Given the description of an element on the screen output the (x, y) to click on. 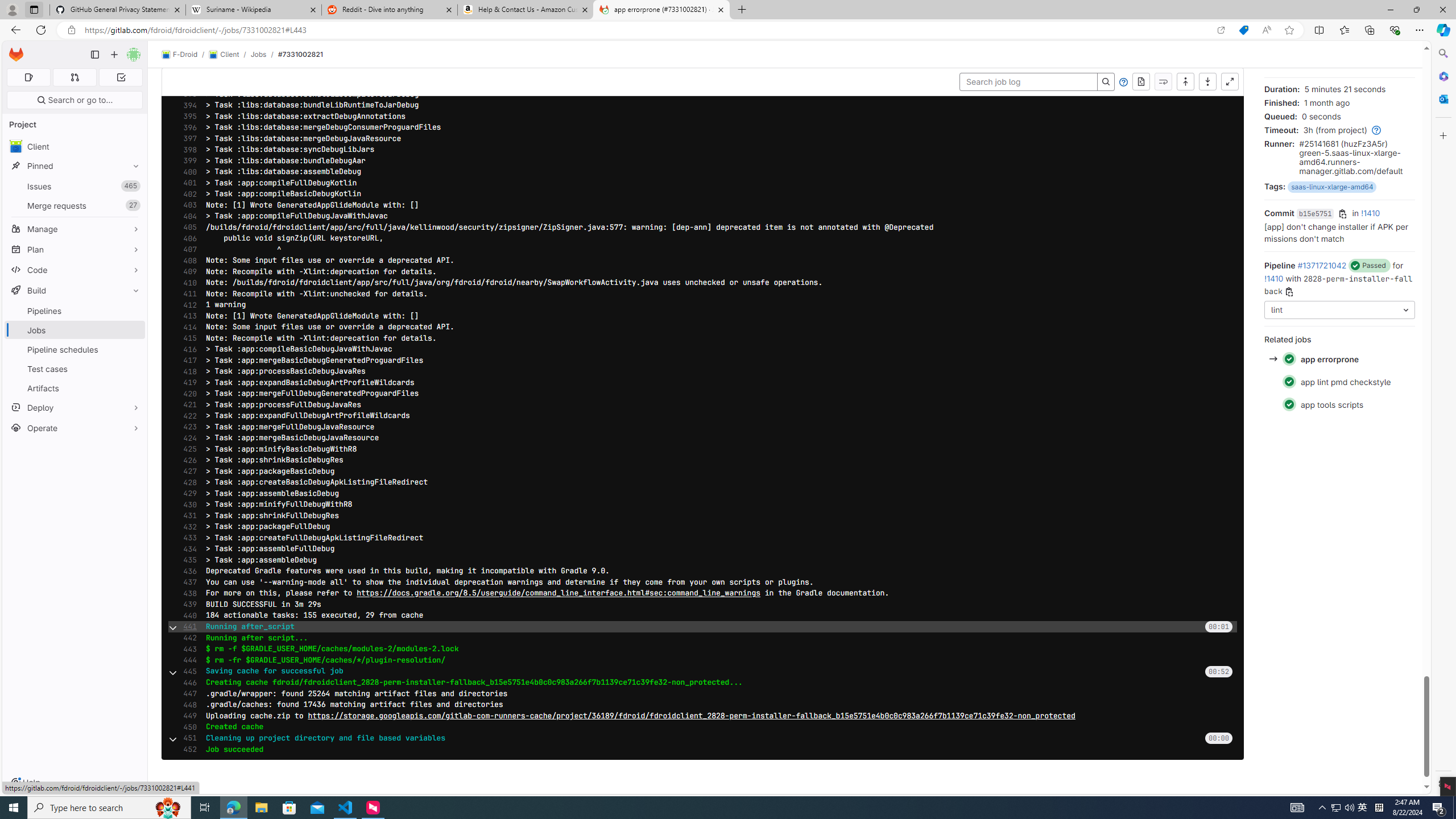
Help & Contact Us - Amazon Customer Service (525, 9)
Manage (74, 228)
b15e5751 (1314, 213)
Artifacts (74, 387)
Jobs (258, 53)
Client (223, 54)
Plan (74, 248)
Pin Jobs (132, 329)
Manage (74, 228)
408 (186, 260)
!1410 (1273, 278)
Code (74, 269)
